Given the description of an element on the screen output the (x, y) to click on. 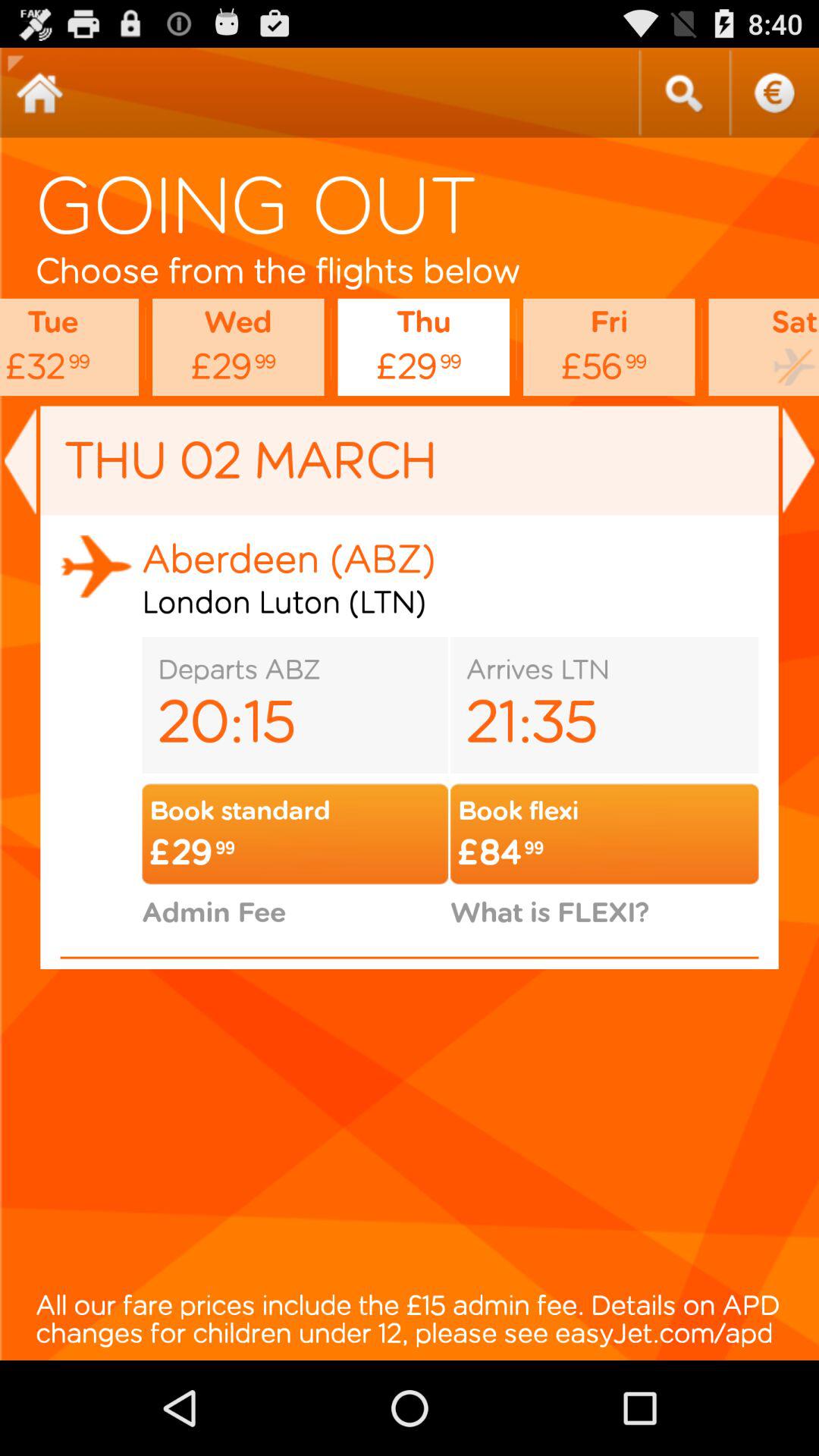
go to search (683, 92)
